Given the description of an element on the screen output the (x, y) to click on. 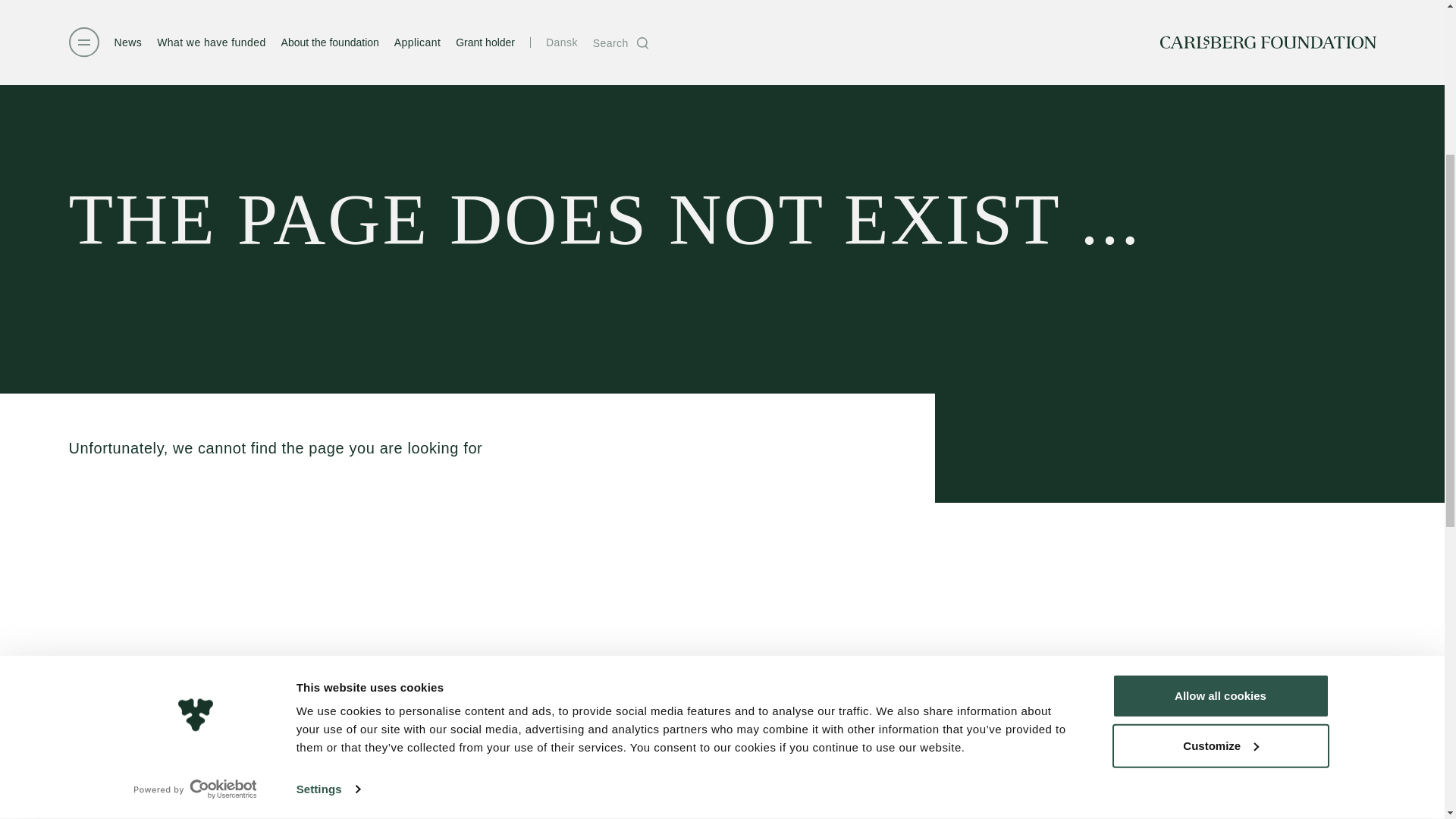
Customize (1219, 429)
Settings (328, 472)
Allow all cookies (1219, 379)
